Given the description of an element on the screen output the (x, y) to click on. 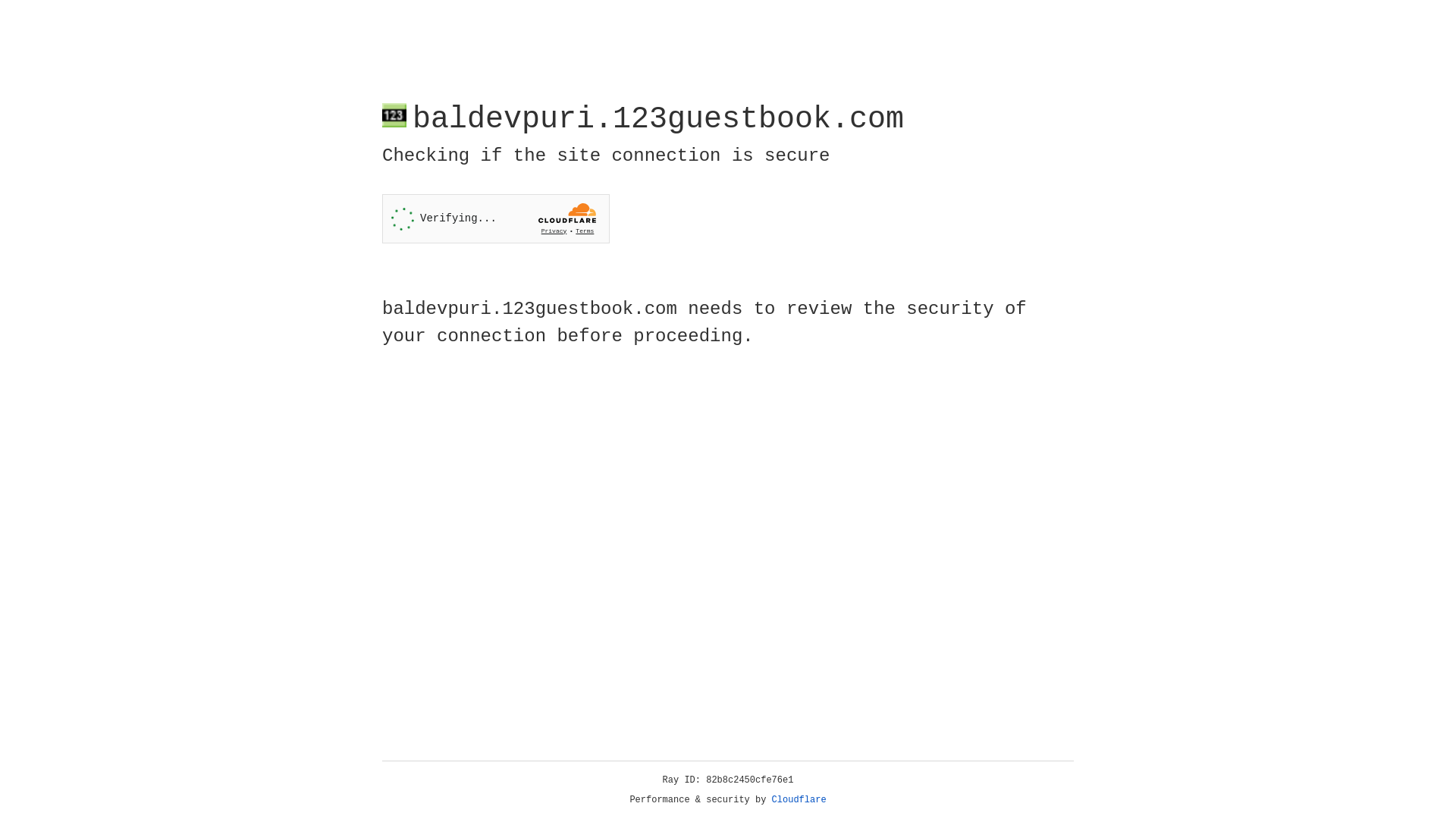
Cloudflare Element type: text (798, 799)
Widget containing a Cloudflare security challenge Element type: hover (495, 218)
